Given the description of an element on the screen output the (x, y) to click on. 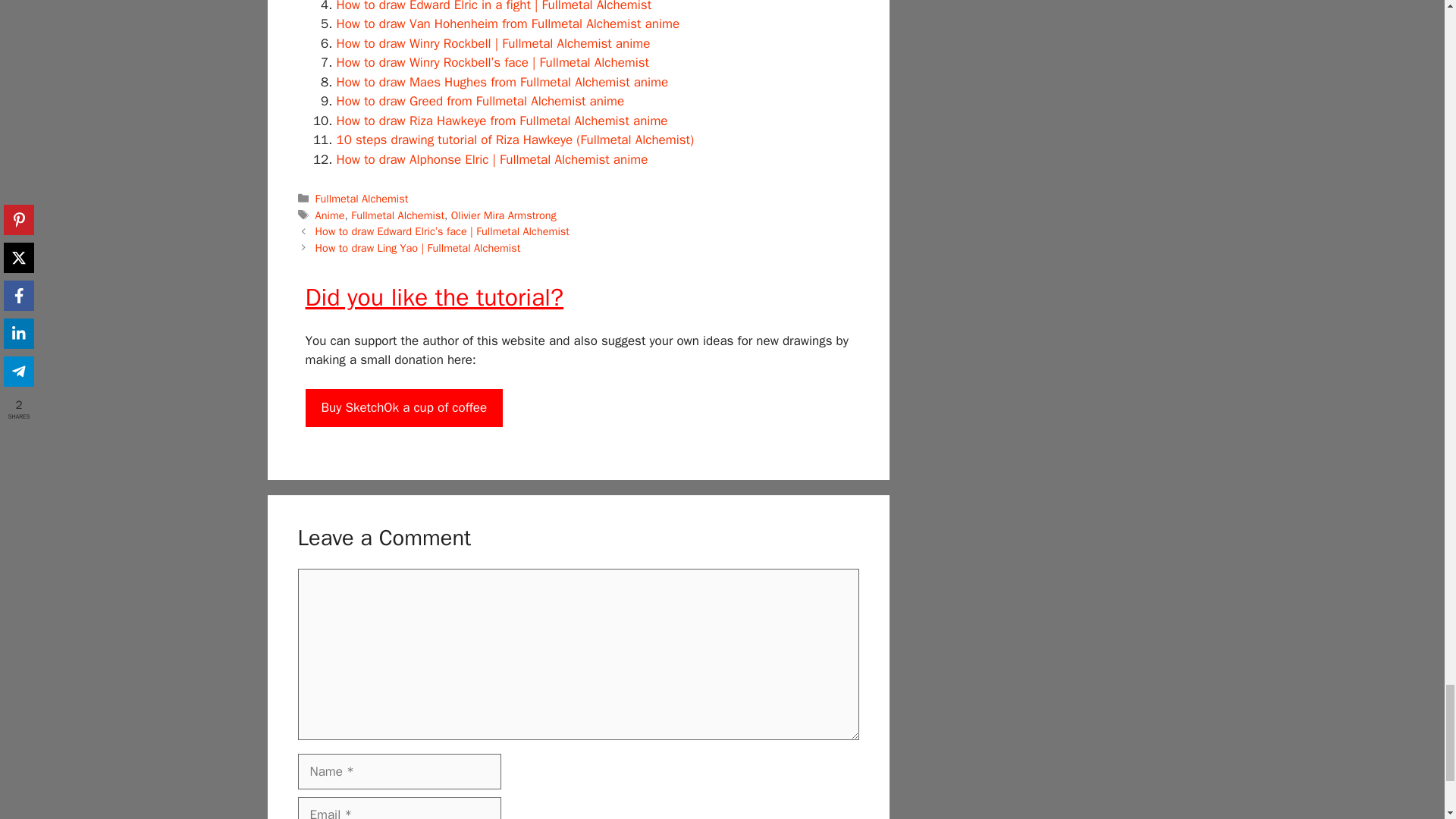
How to draw Greed from Fullmetal Alchemist anime (480, 100)
How to draw Maes Hughes from Fullmetal Alchemist anime (502, 82)
How to draw Riza Hawkeye from Fullmetal Alchemist anime (502, 120)
How to draw Van Hohenheim from Fullmetal Alchemist anime (507, 23)
